Given the description of an element on the screen output the (x, y) to click on. 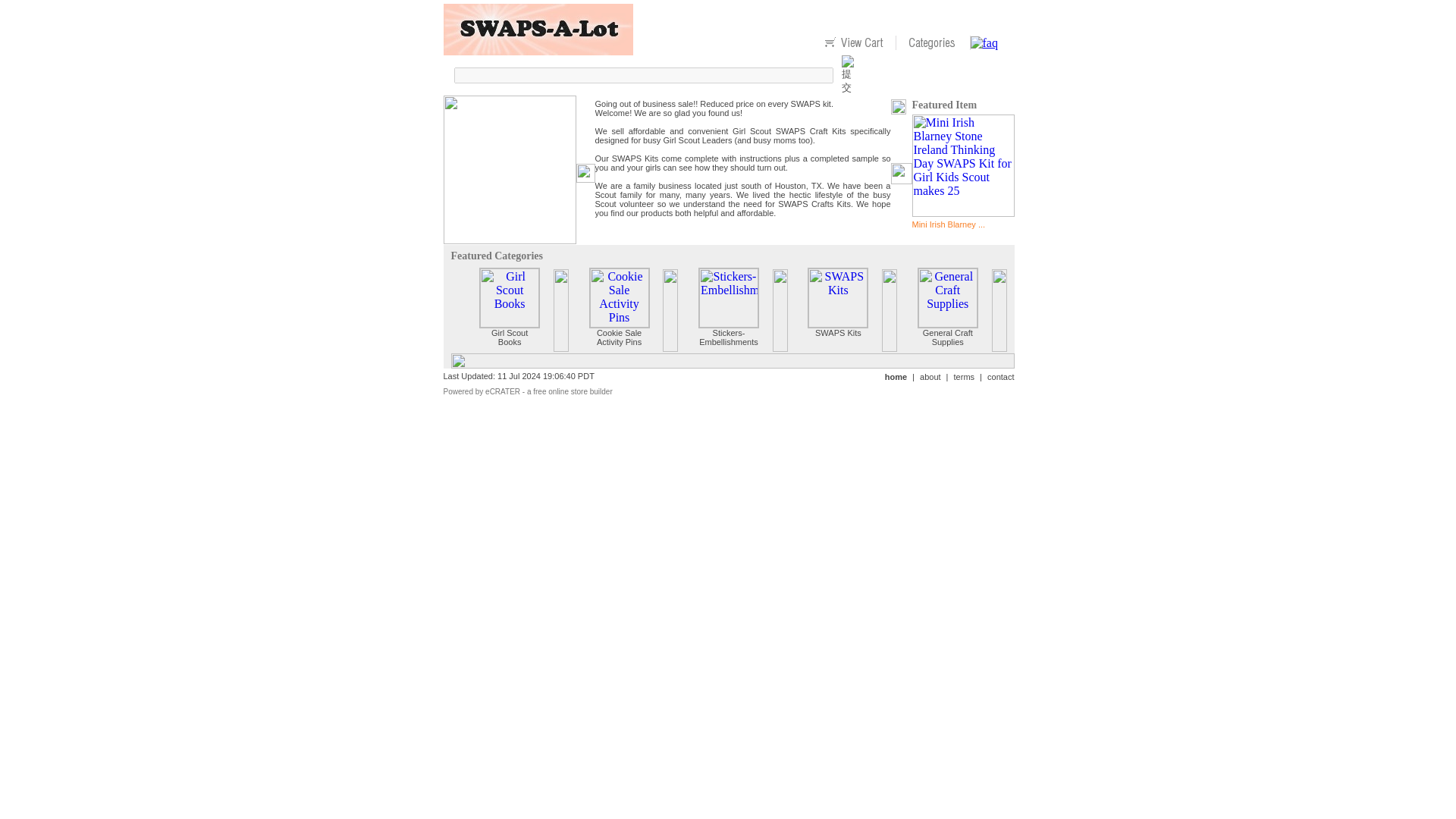
General Craft Supplies (947, 337)
SWAPS Kits (838, 332)
contact (1000, 376)
SWAPS Kits (838, 332)
free online store builder (572, 390)
Cookie Sale Activity Pins (619, 337)
General Craft Supplies (947, 323)
SWAPS Kits (837, 323)
Stickers-Embellishments (728, 337)
Mini Irish Blarney ... (948, 224)
terms (964, 376)
Cookie Sale Activity Pins (619, 337)
Stickers-Embellishments (728, 337)
about (930, 376)
Stickers-Embellishments (728, 323)
